Given the description of an element on the screen output the (x, y) to click on. 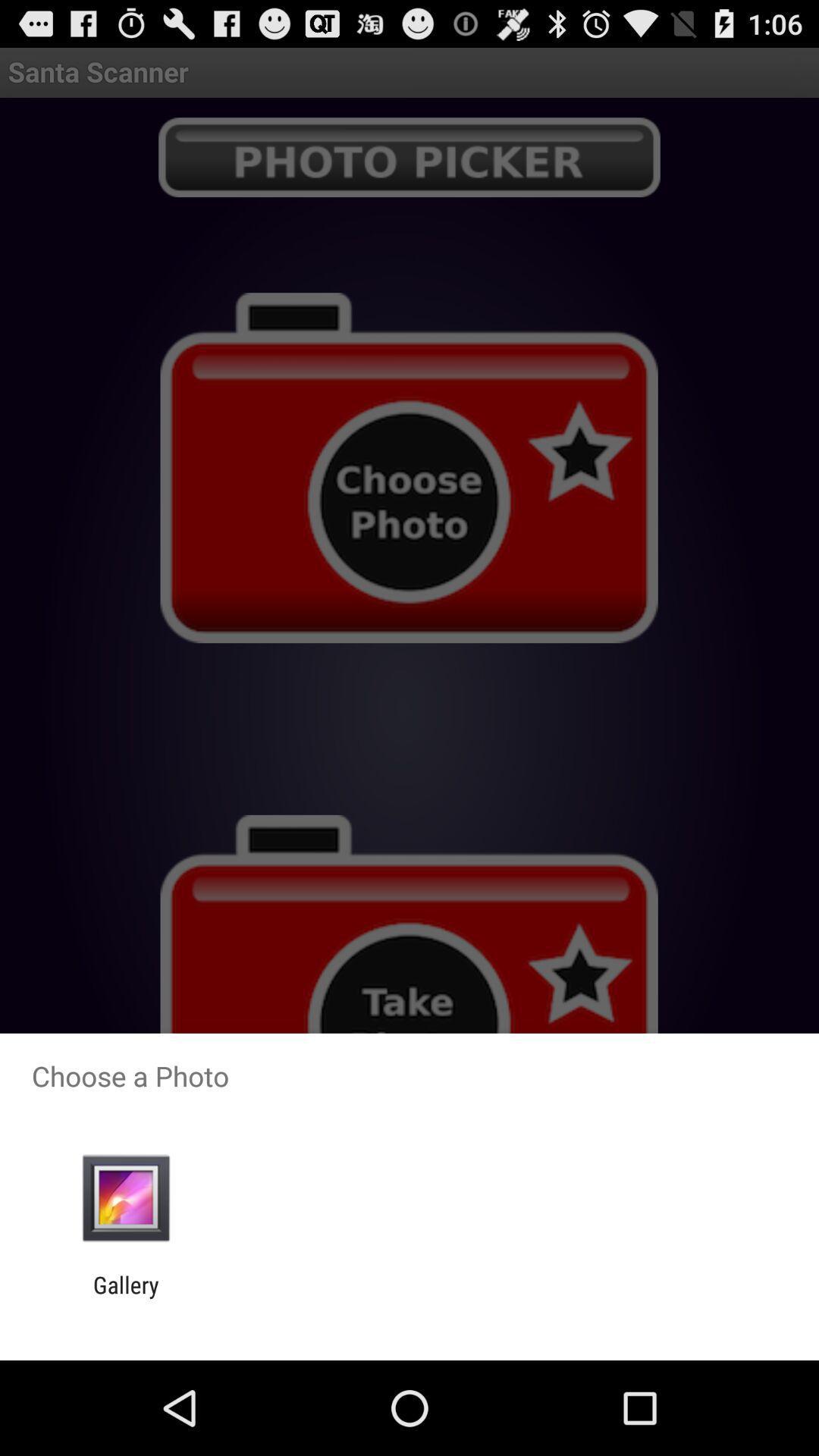
flip to gallery app (126, 1298)
